Given the description of an element on the screen output the (x, y) to click on. 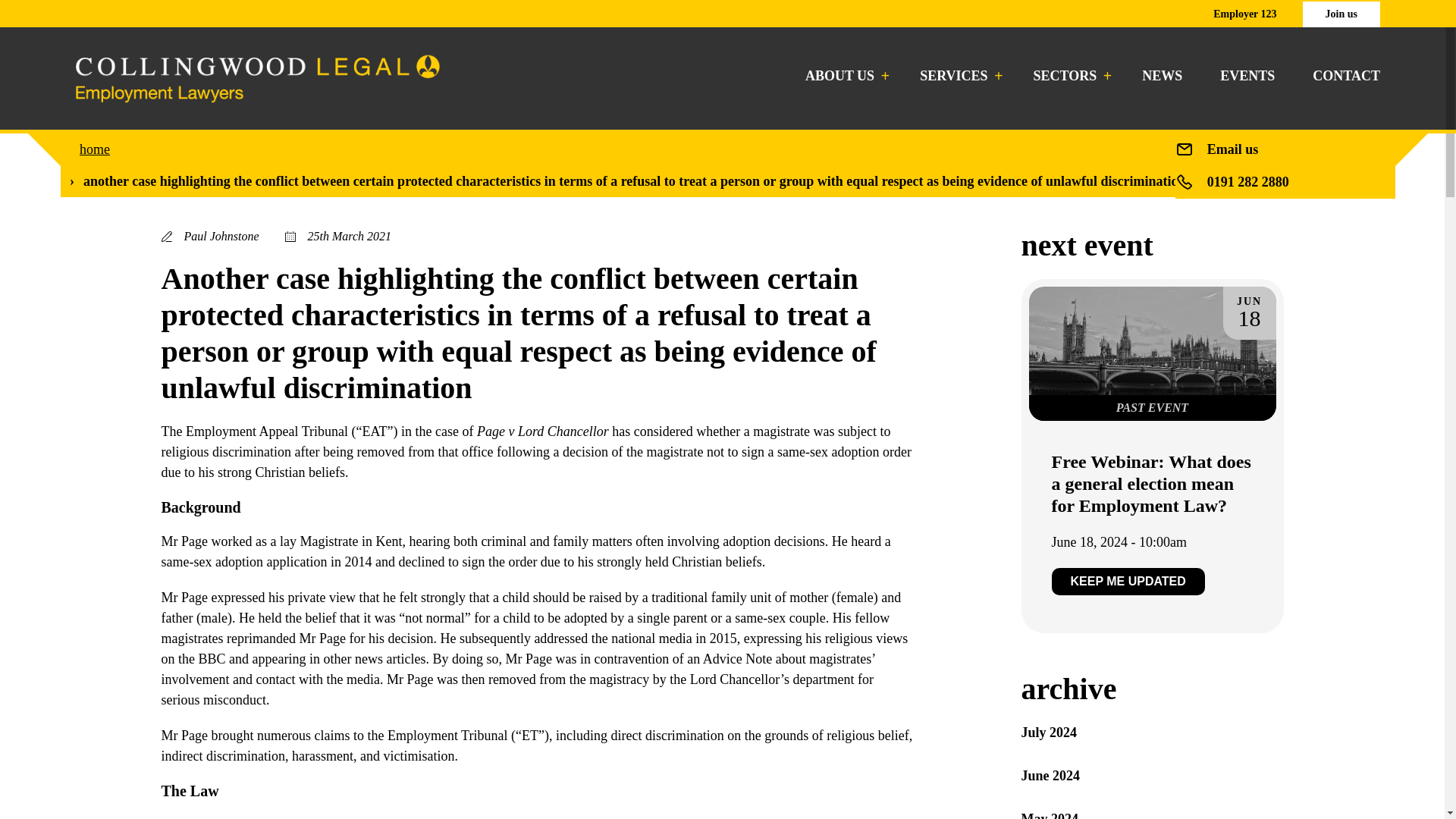
CONTACT (1346, 75)
NEWS (1161, 75)
Employer 123 (1244, 13)
EVENTS (1247, 75)
SERVICES (957, 75)
Email us (1233, 149)
0191 282 2880 (1247, 181)
Join us (1340, 13)
home (95, 149)
SECTORS (1069, 75)
ABOUT US (843, 75)
